Given the description of an element on the screen output the (x, y) to click on. 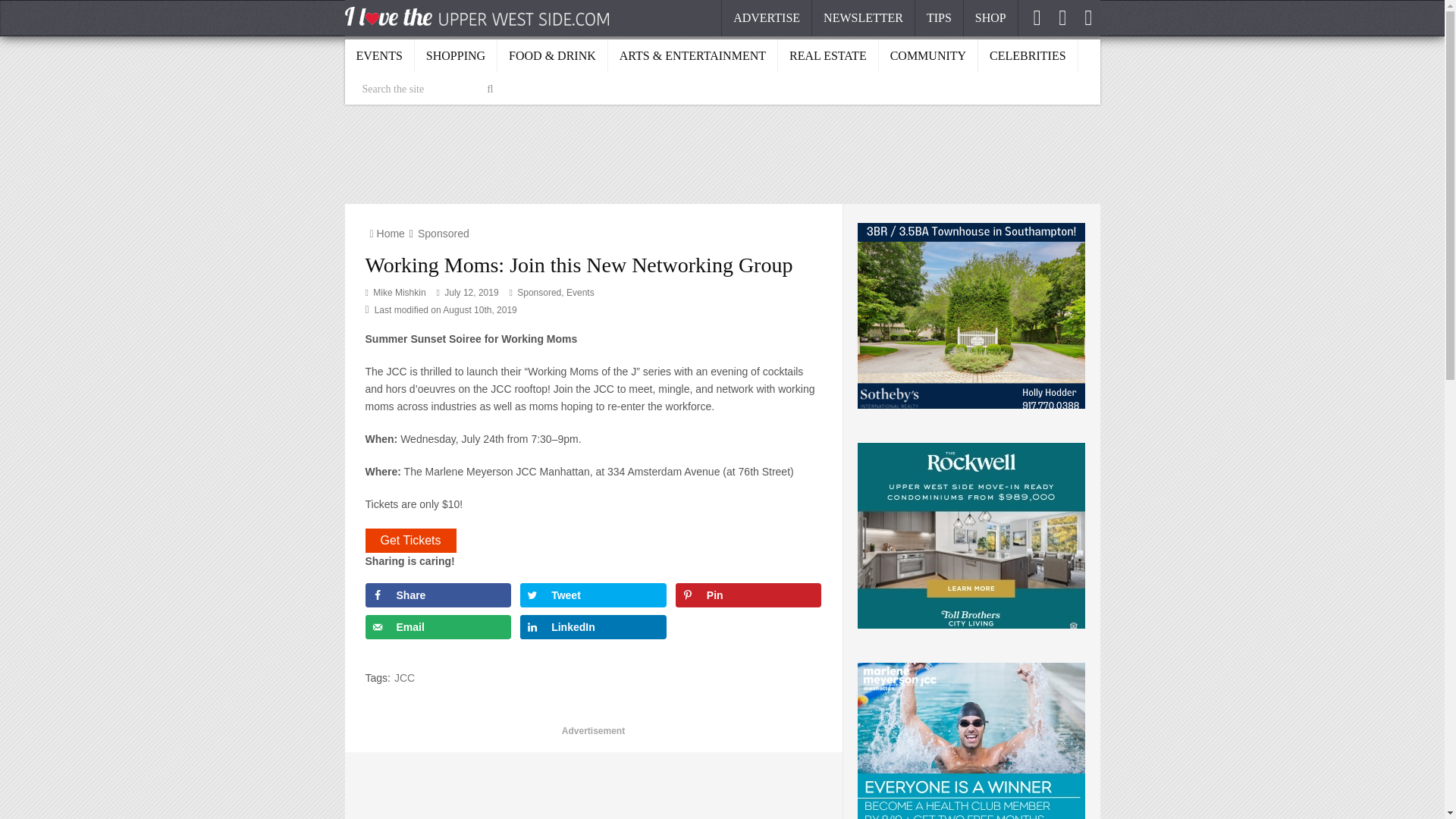
REAL ESTATE (828, 55)
ADVERTISE (766, 18)
Share on LinkedIn (592, 627)
NEWSLETTER (863, 18)
View all posts in Events (580, 292)
Share on Facebook (438, 595)
View all posts in Sponsored (538, 292)
Send over email (438, 627)
COMMUNITY (928, 55)
SHOPPING (455, 55)
